Given the description of an element on the screen output the (x, y) to click on. 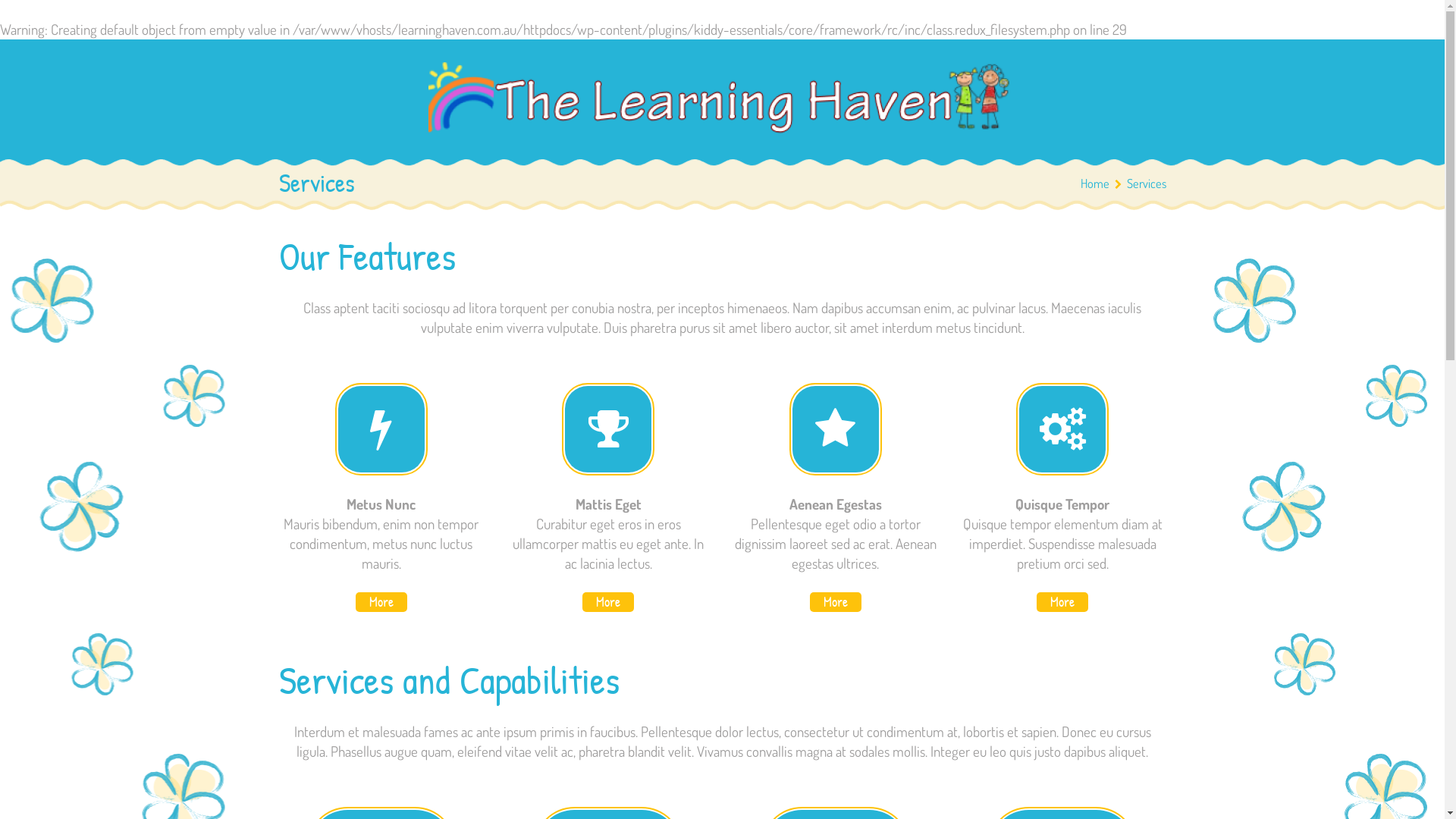
More Element type: text (381, 601)
More Element type: text (1062, 601)
More Element type: text (607, 601)
More Element type: text (835, 601)
Home Element type: text (1093, 183)
